Given the description of an element on the screen output the (x, y) to click on. 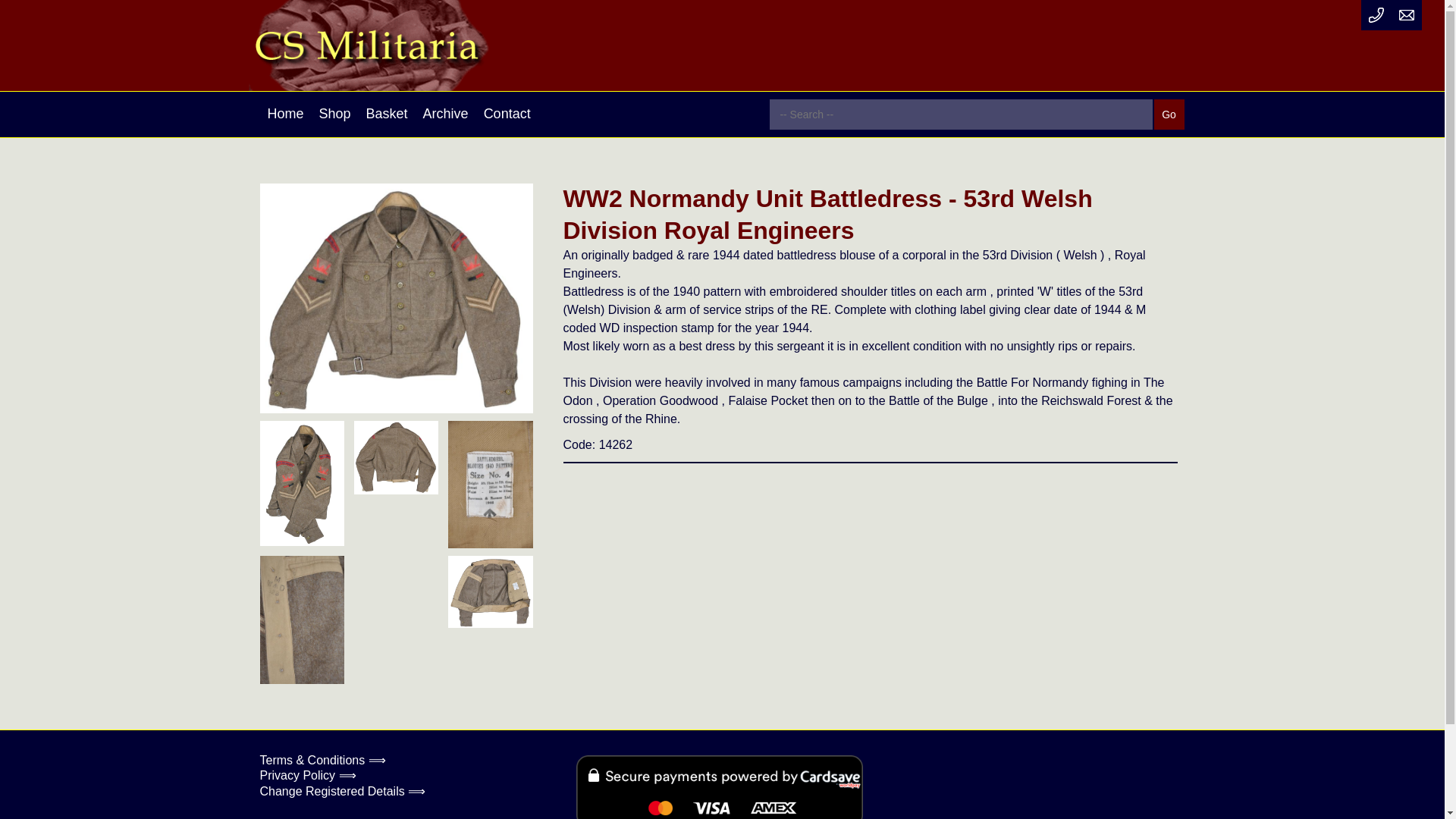
Shop (334, 113)
tel (1376, 15)
Go (1169, 114)
Cardsave (719, 787)
tel (1376, 14)
Logo (398, 45)
Contact (507, 113)
mail (1406, 14)
Basket (386, 113)
mail (1406, 15)
Archive (445, 113)
Go (1169, 114)
Home (285, 113)
